Given the description of an element on the screen output the (x, y) to click on. 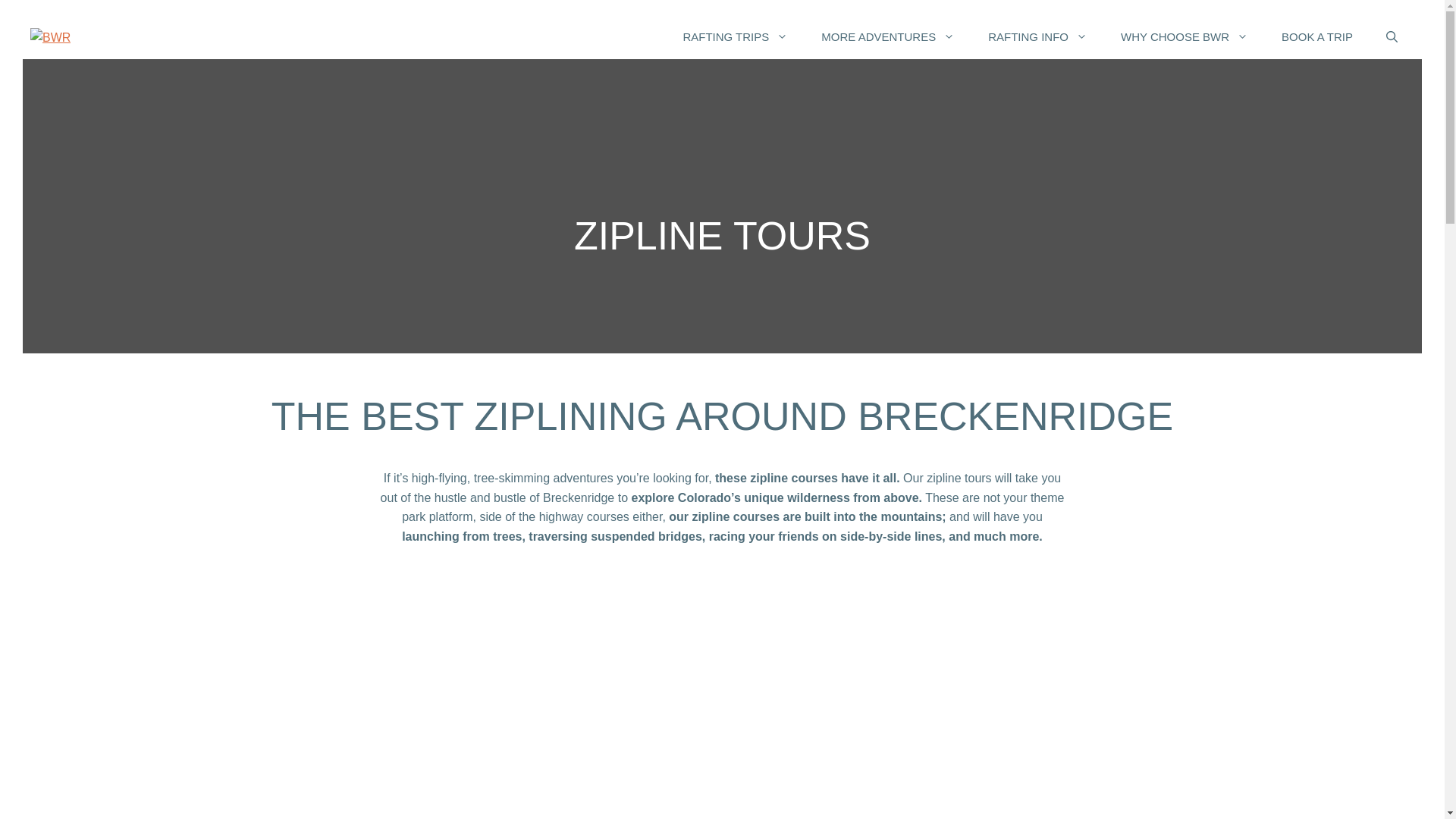
MORE ADVENTURES (888, 36)
RAFTING TRIPS (735, 36)
WHY CHOOSE BWR (1184, 36)
RAFTING INFO (1037, 36)
